Given the description of an element on the screen output the (x, y) to click on. 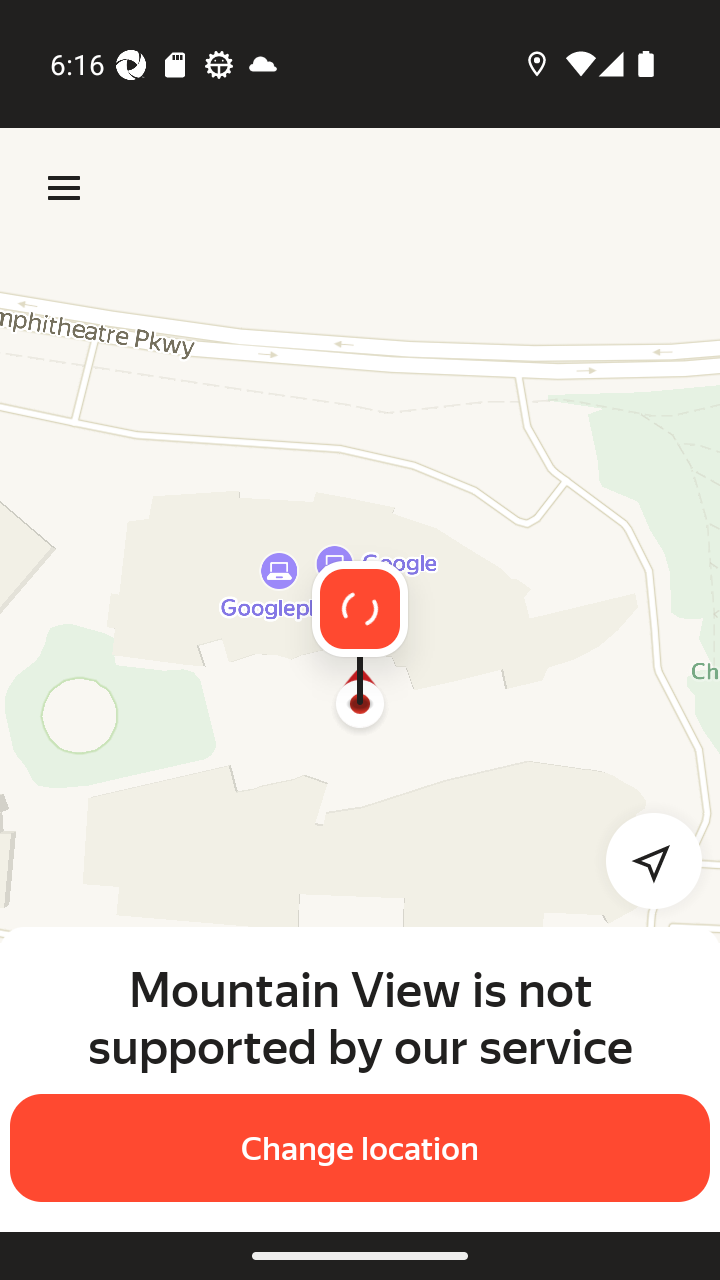
Menu Menu Menu (64, 188)
Detect my location (641, 860)
Mountain View is not supported by our service (360, 1017)
Change location (359, 1147)
